Given the description of an element on the screen output the (x, y) to click on. 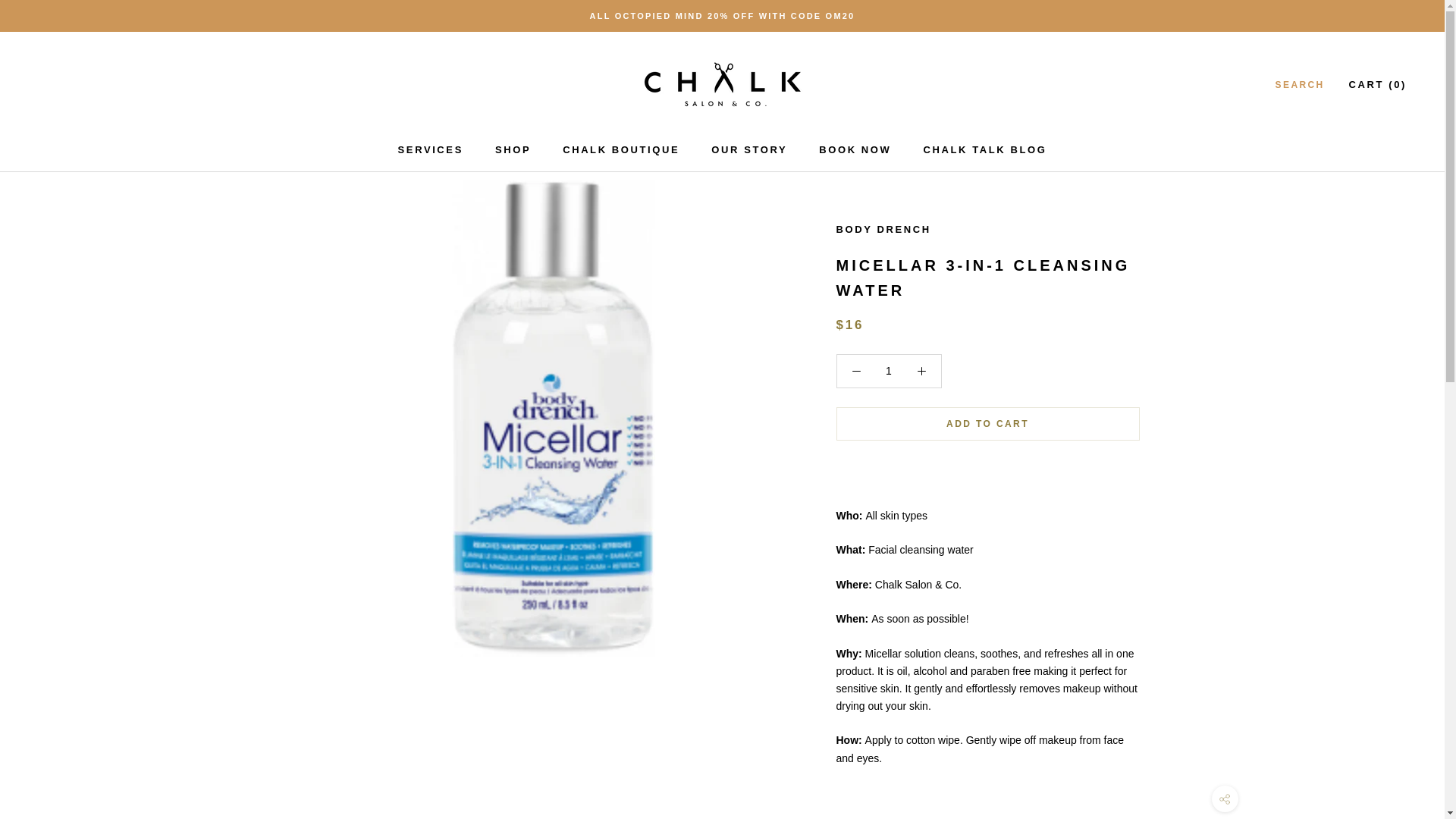
1 (513, 149)
SERVICES (888, 370)
